Given the description of an element on the screen output the (x, y) to click on. 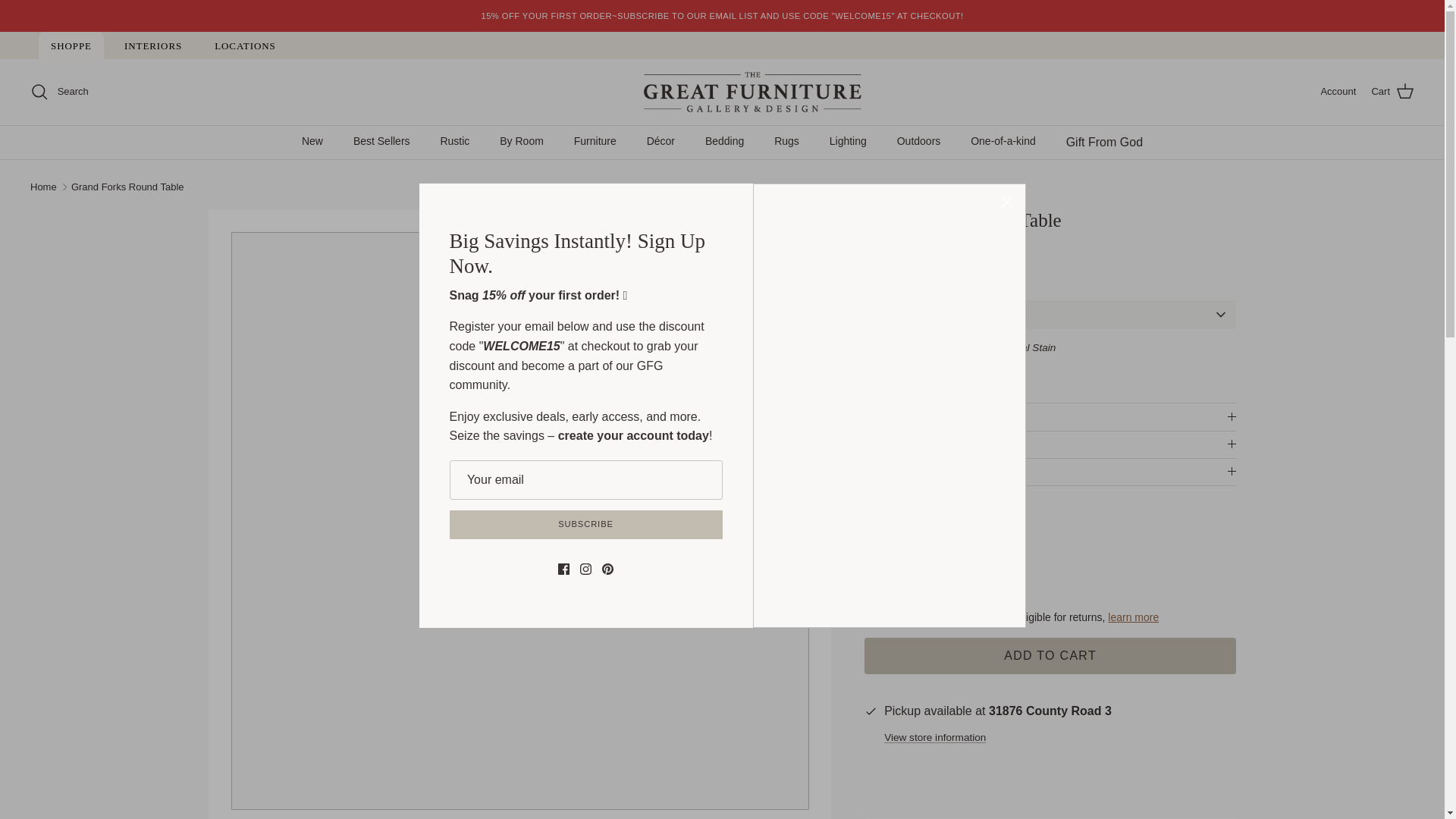
Best Sellers (381, 141)
Account (1337, 91)
Rustic (454, 141)
New (312, 141)
Minus (882, 561)
Search (59, 91)
Cart (1392, 91)
SHOPPE (71, 45)
LOCATIONS (245, 45)
INTERIORS (152, 45)
1 (926, 562)
Furniture (595, 141)
By Room (521, 141)
Plus (969, 561)
